Given the description of an element on the screen output the (x, y) to click on. 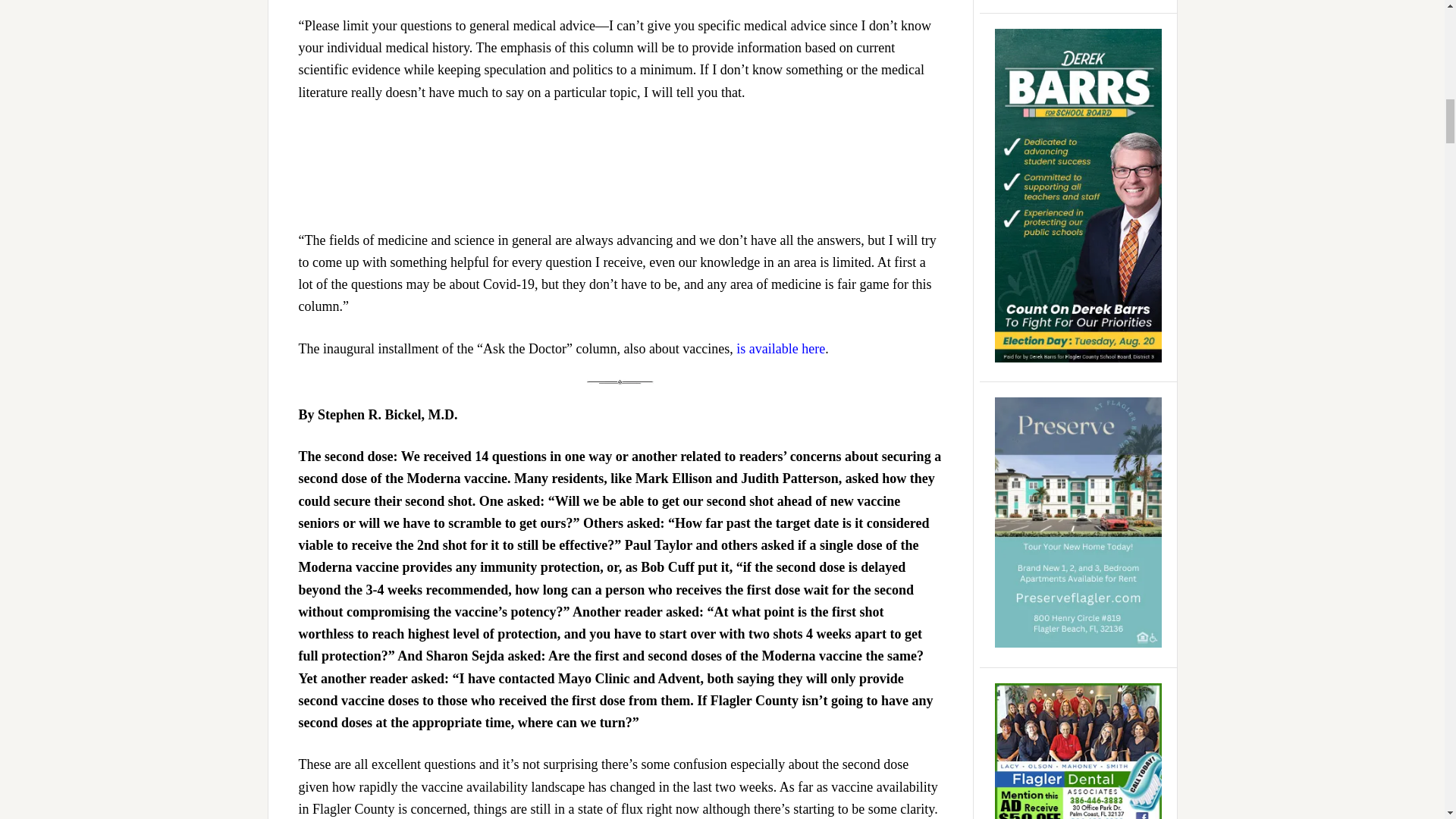
divider (619, 382)
